Given the description of an element on the screen output the (x, y) to click on. 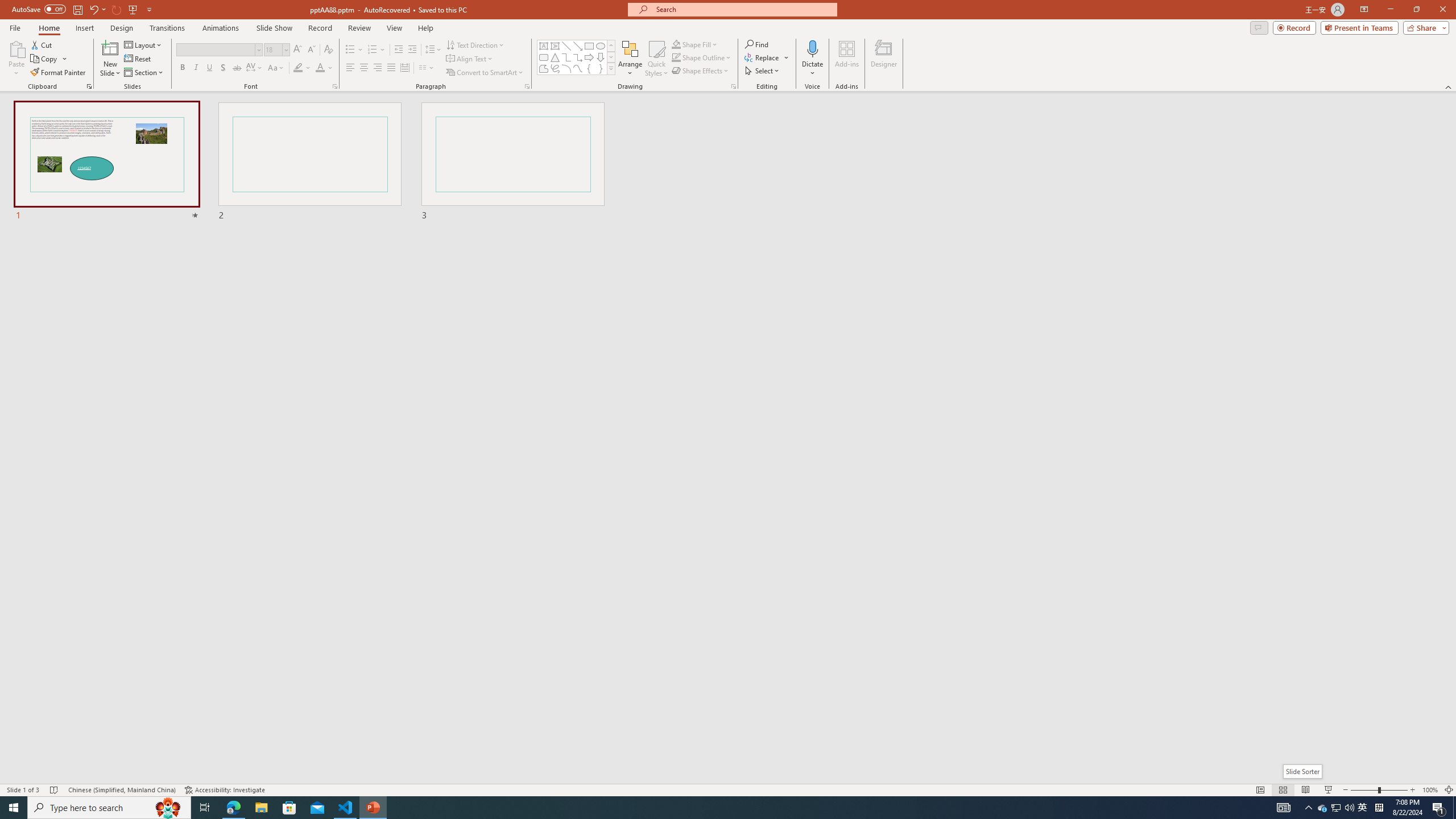
More Options (812, 68)
Align Text (470, 58)
Text Highlight Color (302, 67)
Center (363, 67)
Slide (513, 161)
Design (122, 28)
File Tab (15, 27)
Font (215, 49)
Isosceles Triangle (554, 57)
Format Object... (733, 85)
Cut (42, 44)
Zoom 100% (1430, 790)
Arrow: Down (600, 57)
